Given the description of an element on the screen output the (x, y) to click on. 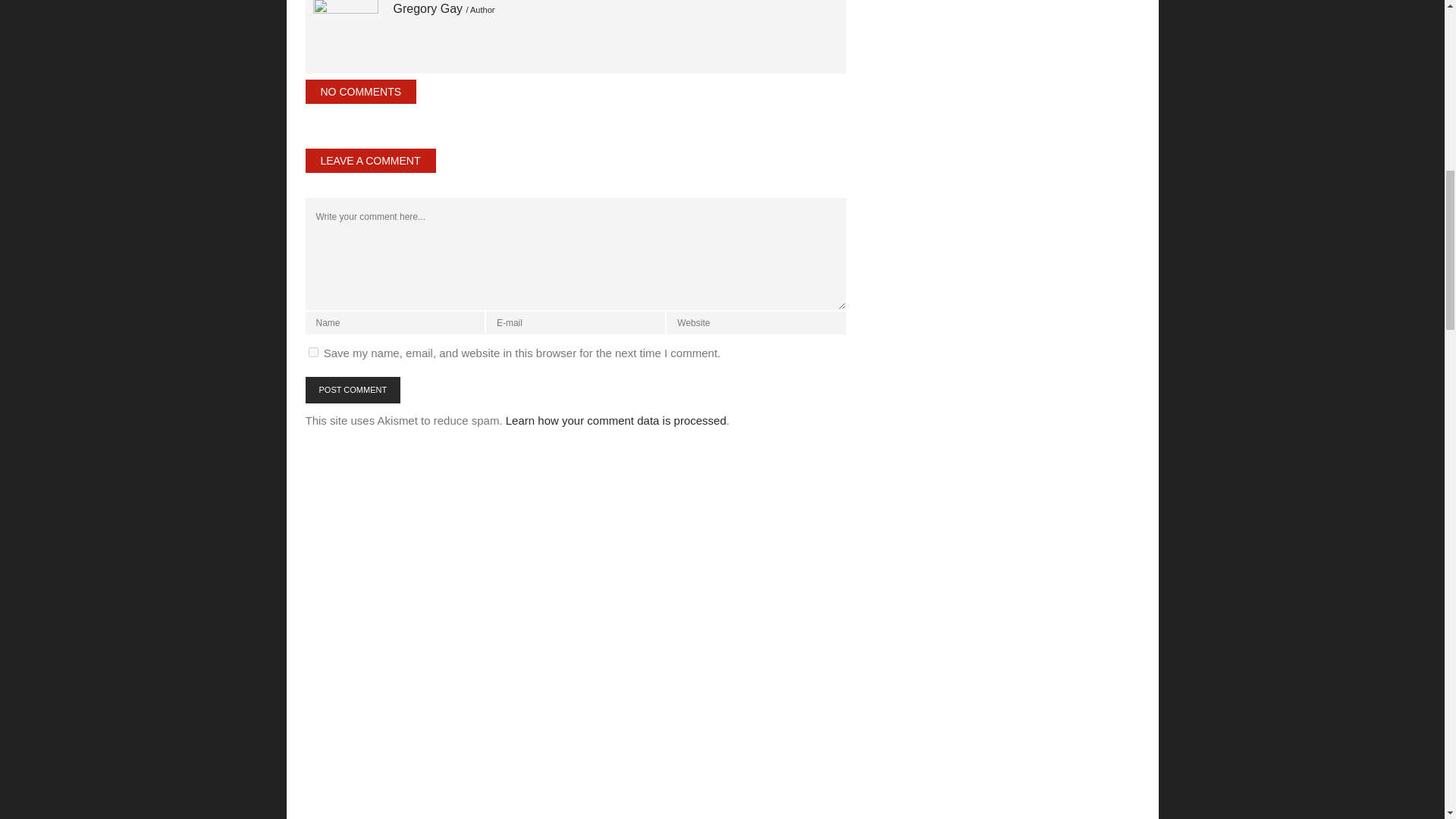
Sparrow Records Founder Billy Ray Hearne Passes (444, 8)
yes (312, 352)
POST COMMENT (352, 389)
Sparrow Records Founder Billy Ray Hearne Passes (345, 31)
